Given the description of an element on the screen output the (x, y) to click on. 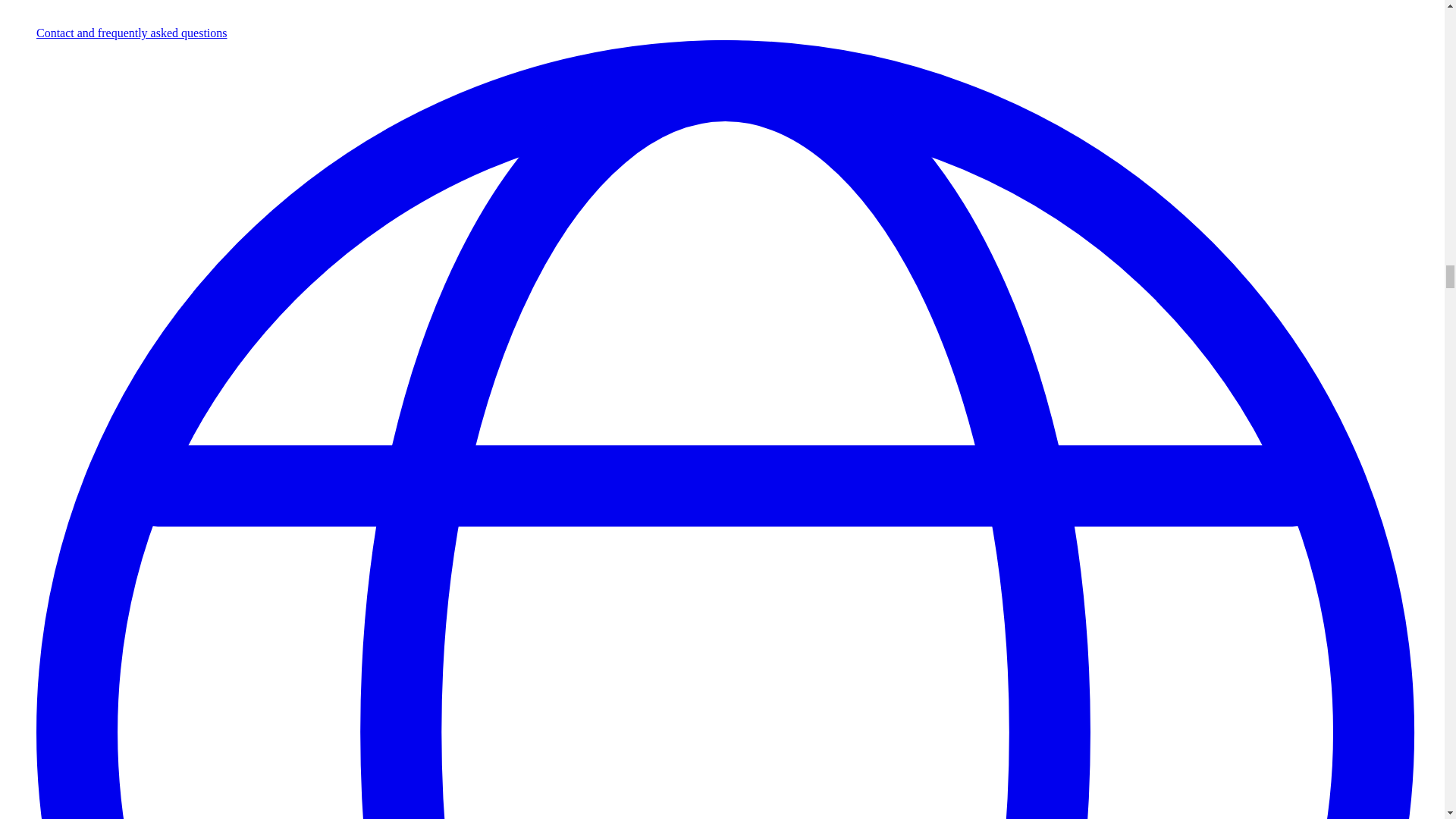
Contact and frequently asked questions (131, 32)
Contact and frequently asked questions (131, 32)
